Given the description of an element on the screen output the (x, y) to click on. 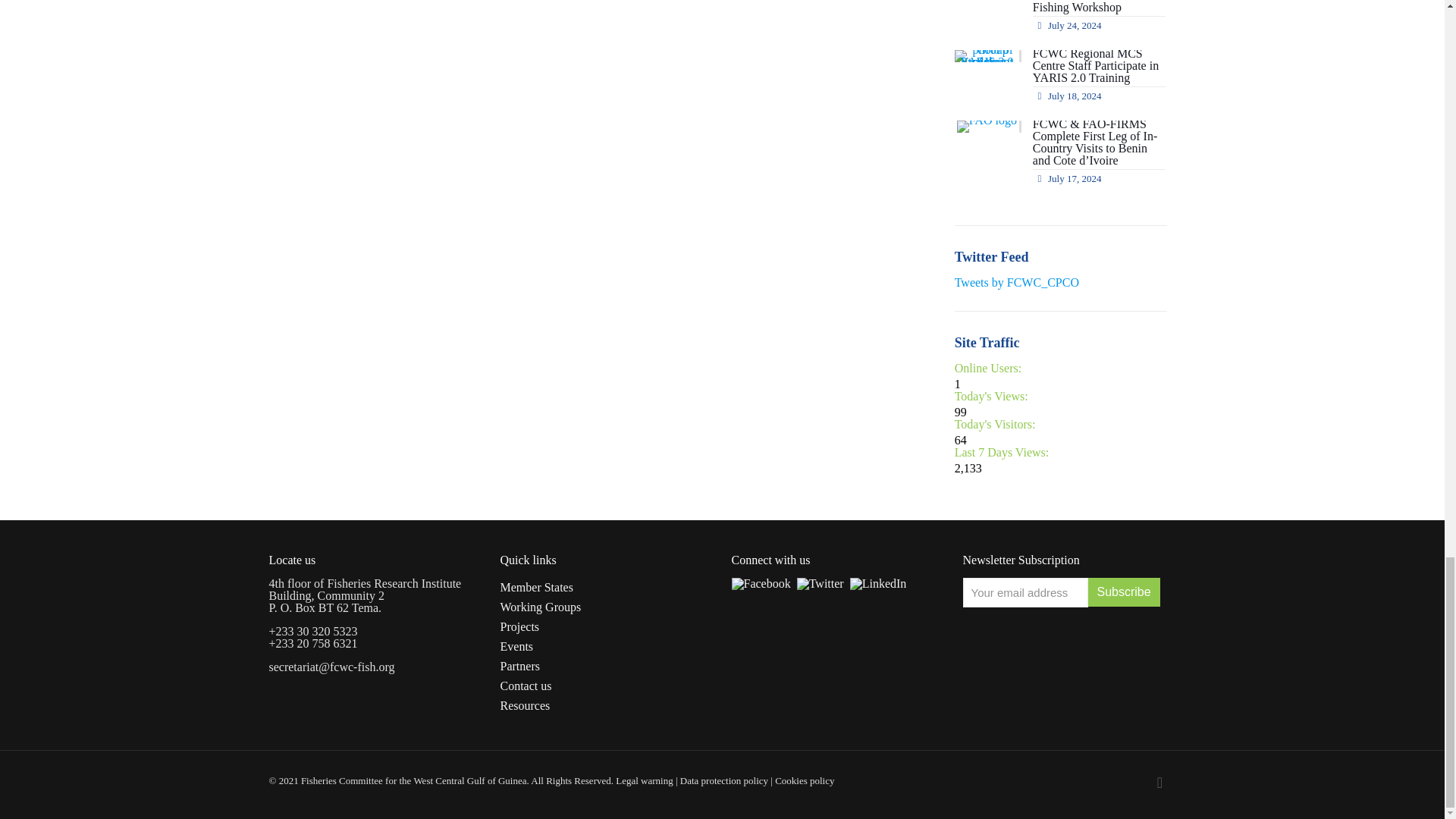
Subscribe (1122, 592)
